Given the description of an element on the screen output the (x, y) to click on. 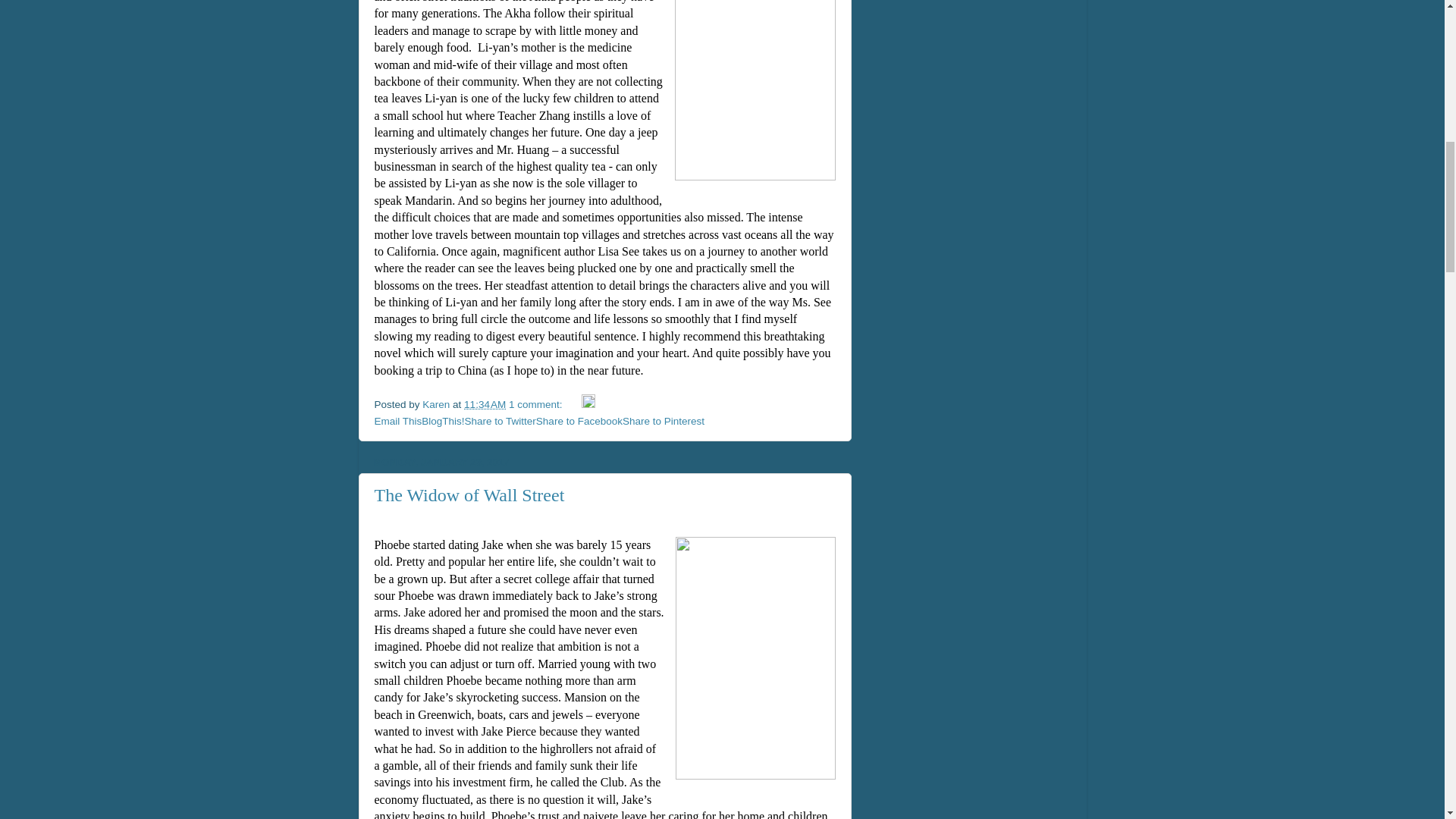
Email This (398, 420)
The Widow of Wall Street (469, 495)
author profile (437, 404)
Share to Pinterest (663, 420)
1 comment: (536, 404)
Email This (398, 420)
Edit Post (587, 404)
Share to Twitter (499, 420)
Email Post (572, 404)
Share to Facebook (579, 420)
Karen (437, 404)
permanent link (484, 404)
BlogThis! (443, 420)
BlogThis! (443, 420)
